Given the description of an element on the screen output the (x, y) to click on. 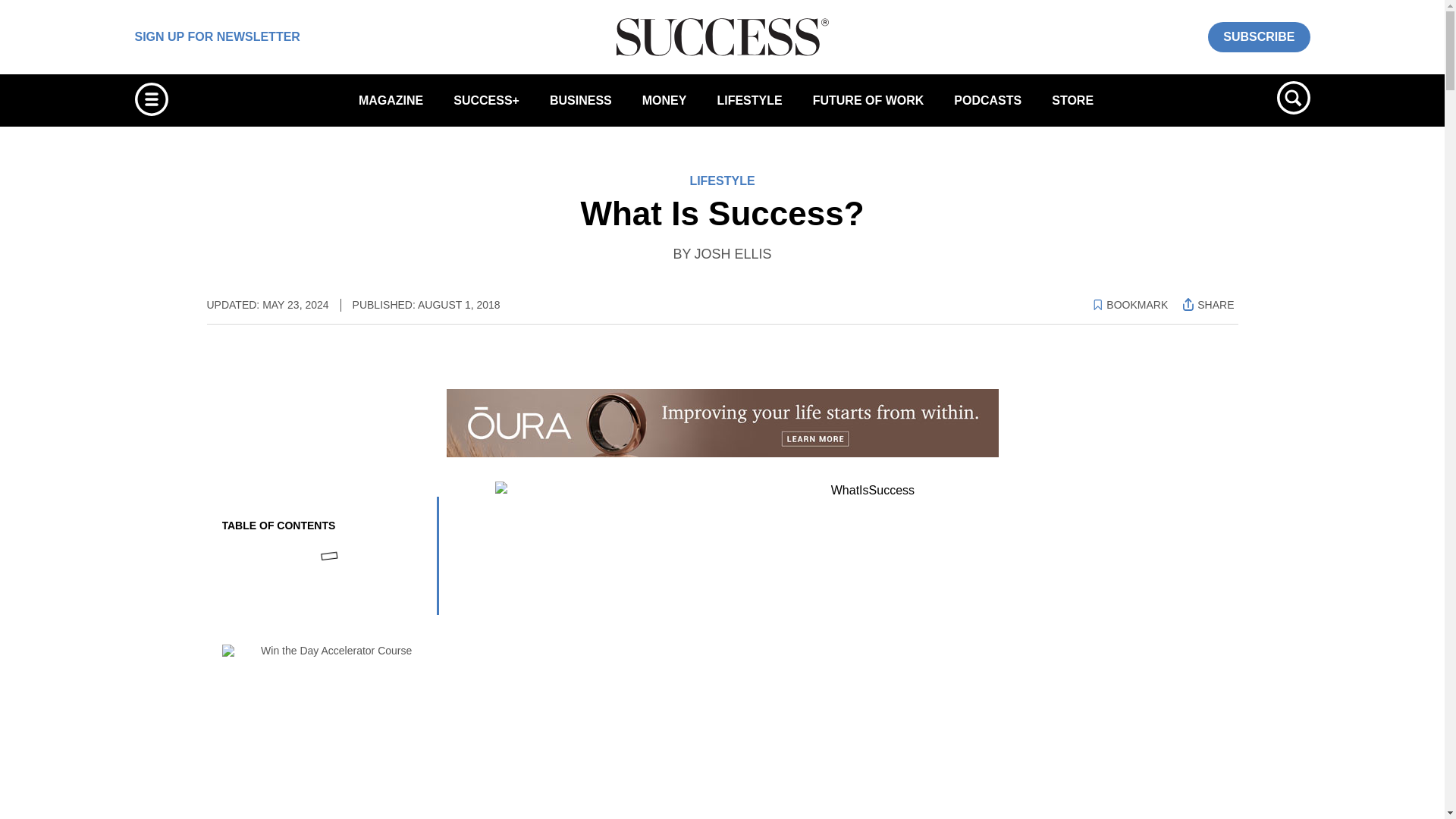
PODCASTS (987, 100)
SUBSCRIBE (1258, 36)
STORE (1072, 100)
FUTURE OF WORK (868, 100)
BUSINESS (580, 100)
MAGAZINE (390, 100)
LIFESTYLE (748, 100)
MONEY (664, 100)
SIGN UP FOR NEWSLETTER (217, 36)
